Given the description of an element on the screen output the (x, y) to click on. 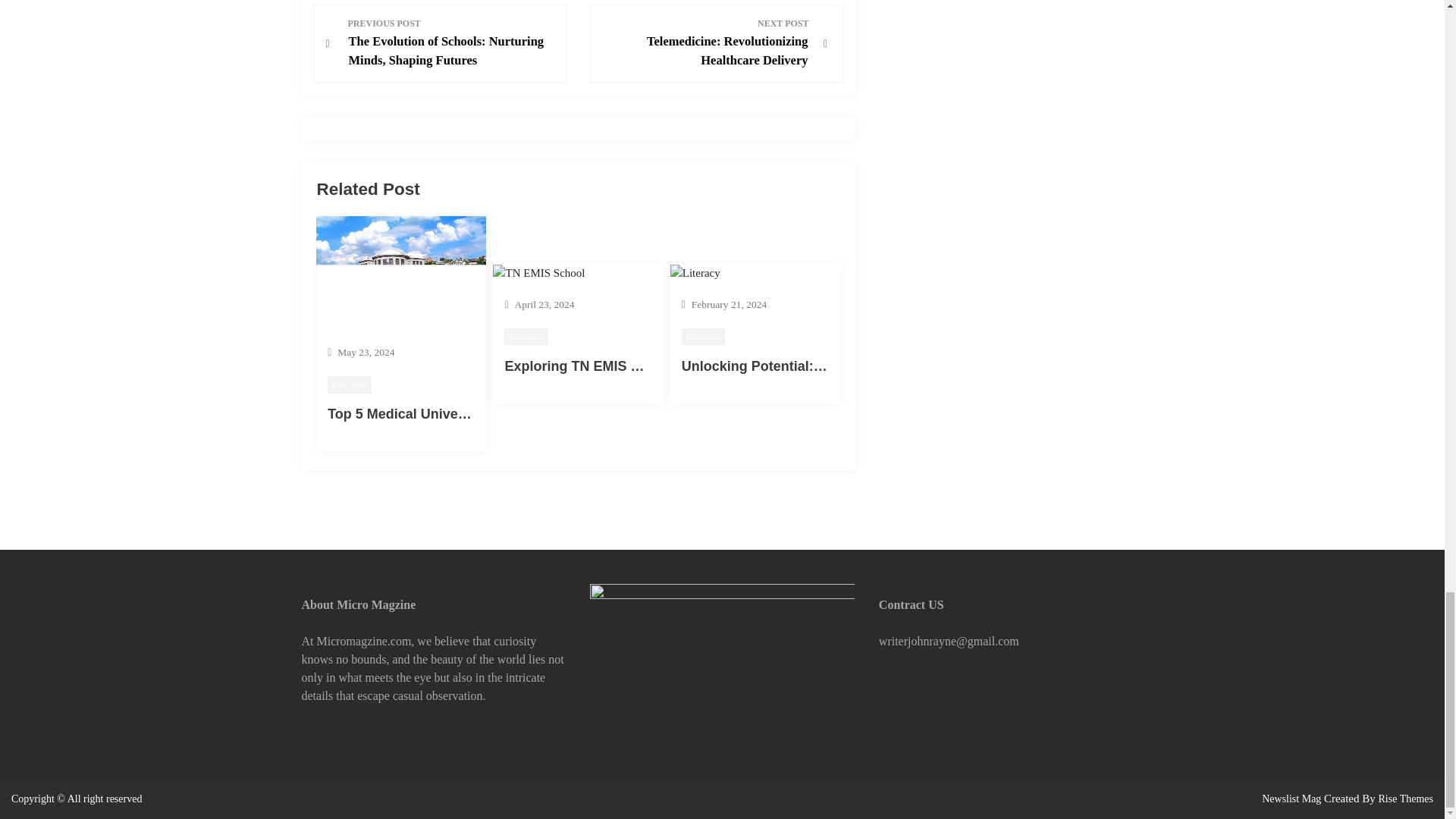
Education (703, 336)
Education (705, 43)
Education (525, 336)
Exploring TN EMIS Schools: A Gateway to Quality Education (349, 384)
